Given the description of an element on the screen output the (x, y) to click on. 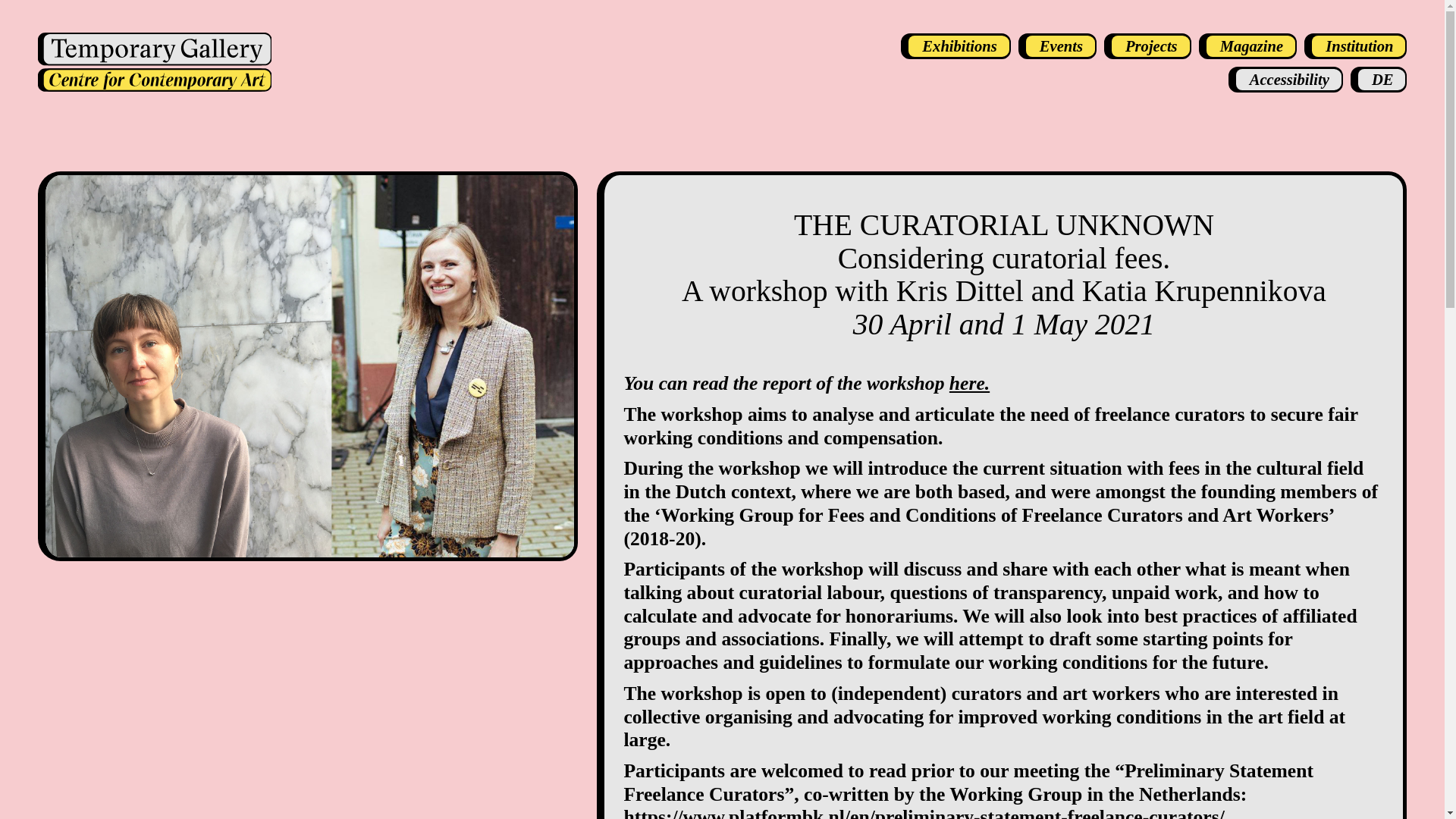
Exhibitions (955, 45)
Projects (1147, 45)
Projects (1147, 45)
Accessibility (1285, 79)
Events (1056, 45)
de (1379, 79)
DE (1379, 79)
Events (1056, 45)
Institution (1355, 45)
Magazine (1247, 45)
Exhibitions (955, 45)
Institution (1355, 45)
Magazine (1247, 45)
Accessibility (1285, 79)
here. (969, 382)
